Given the description of an element on the screen output the (x, y) to click on. 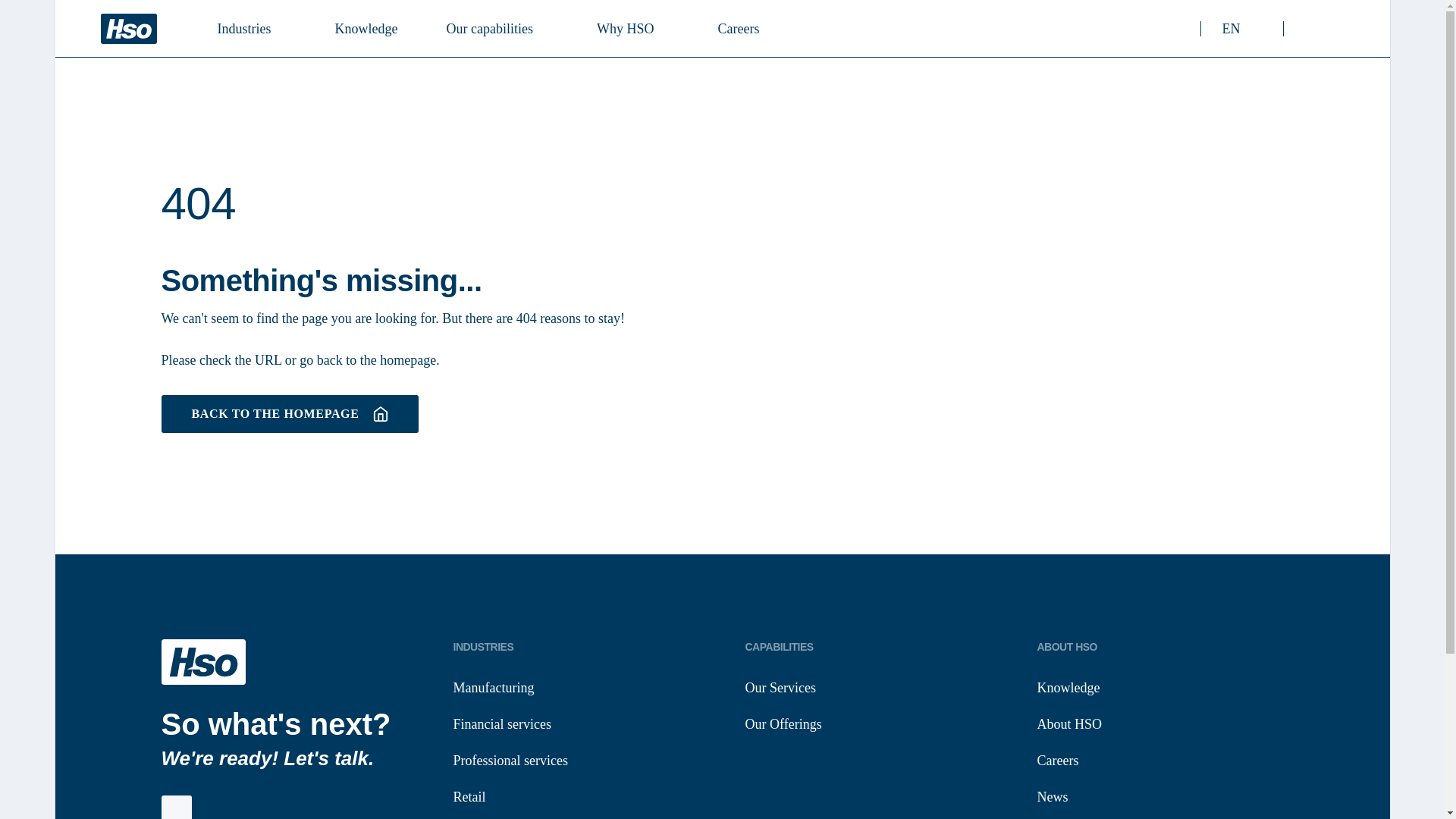
Logo (127, 28)
Industries (495, 27)
